Given the description of an element on the screen output the (x, y) to click on. 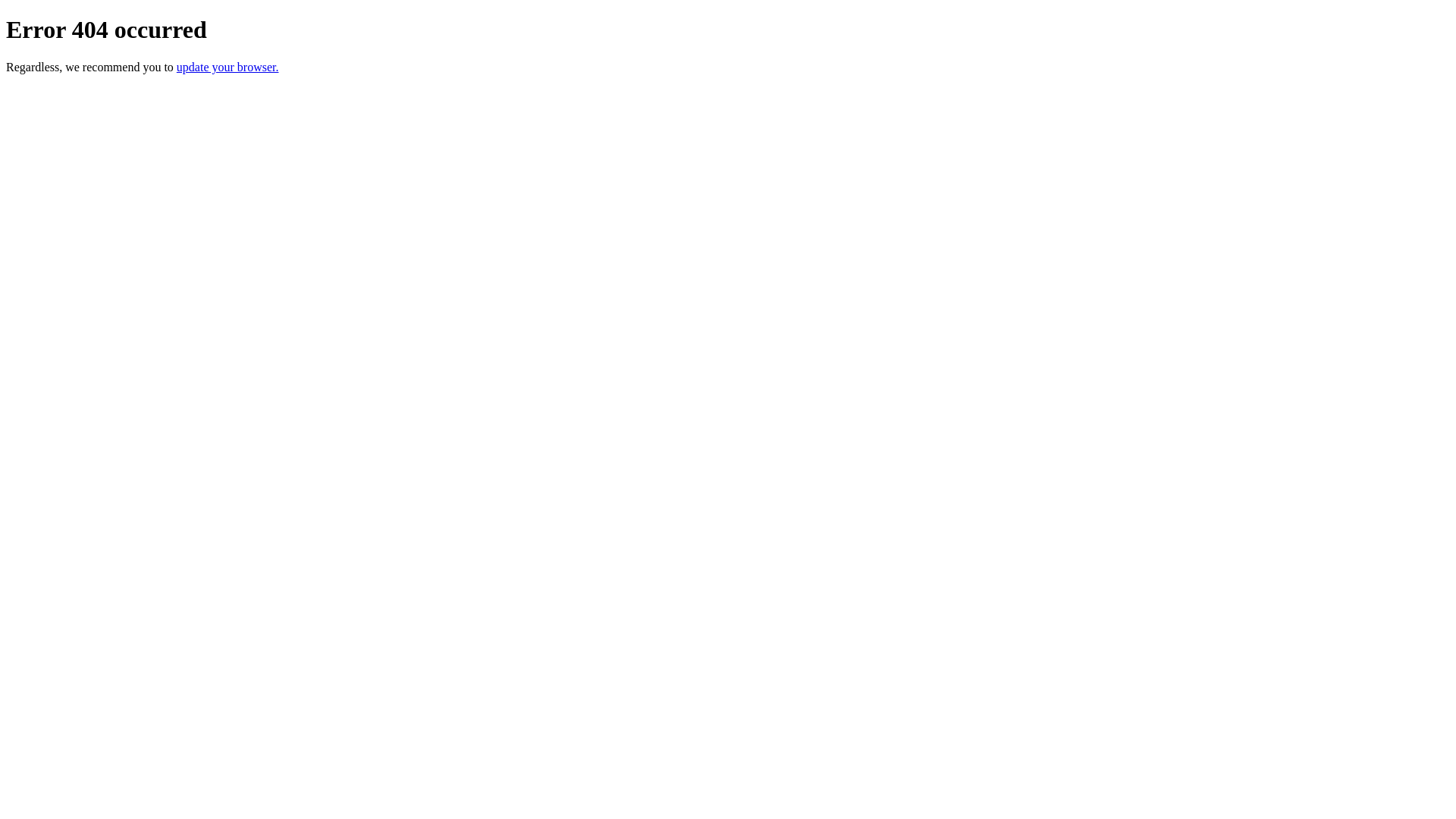
update your browser. Element type: text (227, 66)
